Given the description of an element on the screen output the (x, y) to click on. 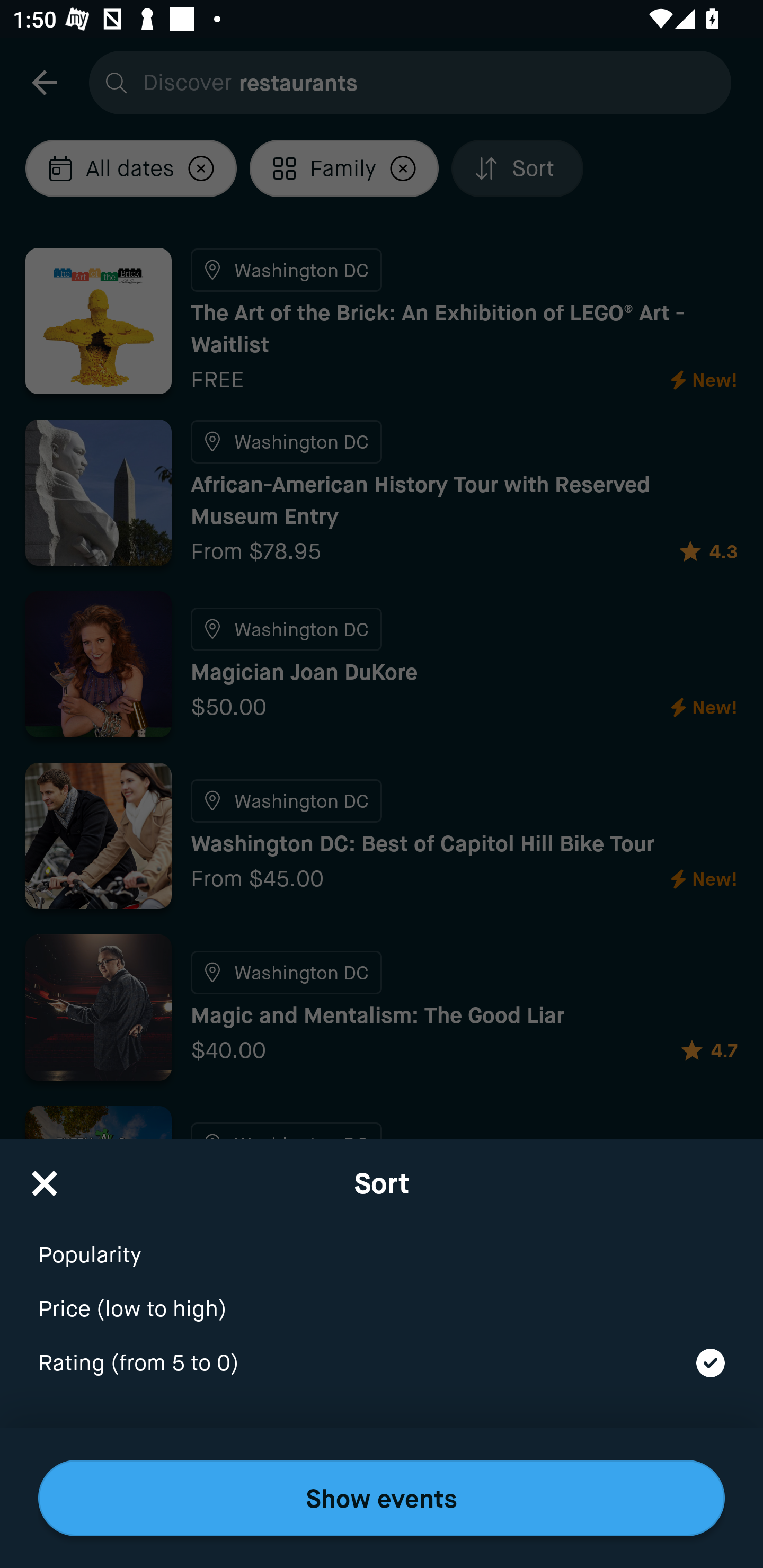
CloseButton (44, 1177)
Popularity (381, 1243)
Price (low to high) (381, 1297)
Rating (from 5 to 0) Selected Icon (381, 1362)
Show events (381, 1497)
